Given the description of an element on the screen output the (x, y) to click on. 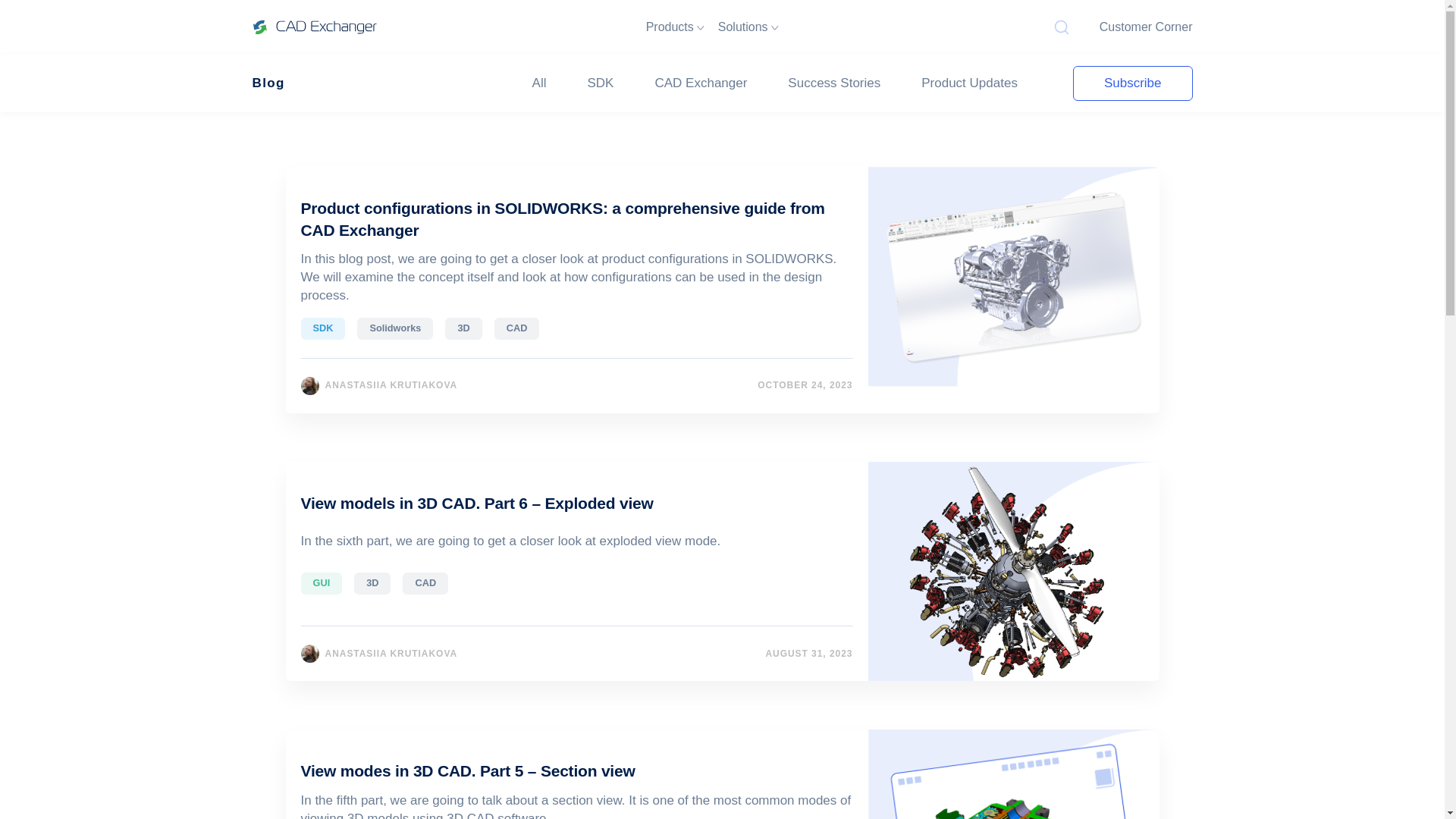
Product Updates (969, 82)
SDK (601, 82)
Solutions (747, 27)
Anastasiia Krutiakova (308, 384)
Success Stories (833, 82)
CAD Exchanger (700, 82)
Subscribe (1132, 82)
Products (674, 27)
Blog (267, 82)
Customer Corner (1145, 27)
Anastasiia Krutiakova (308, 653)
All (539, 82)
